Given the description of an element on the screen output the (x, y) to click on. 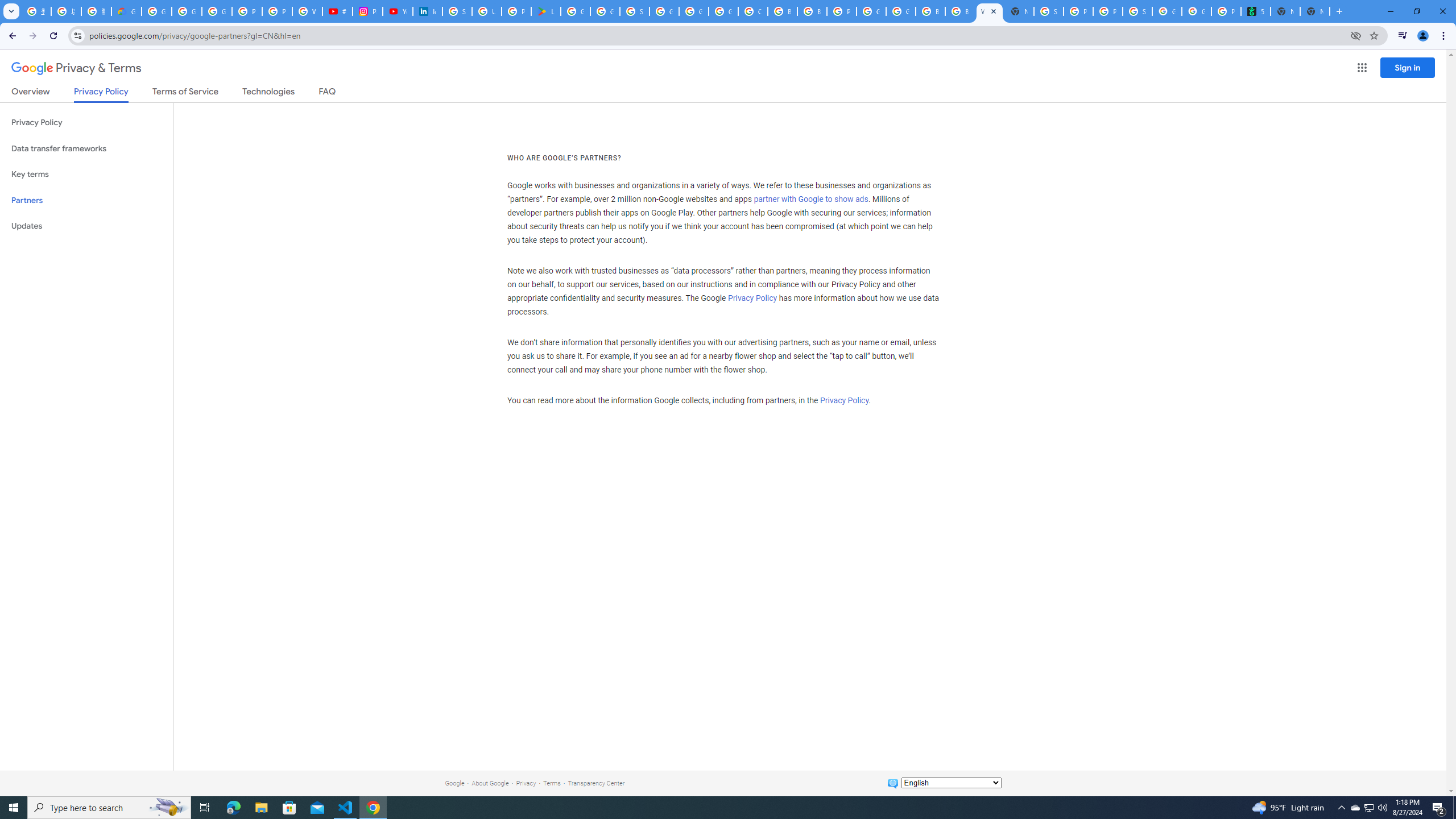
Updates (86, 225)
